Given the description of an element on the screen output the (x, y) to click on. 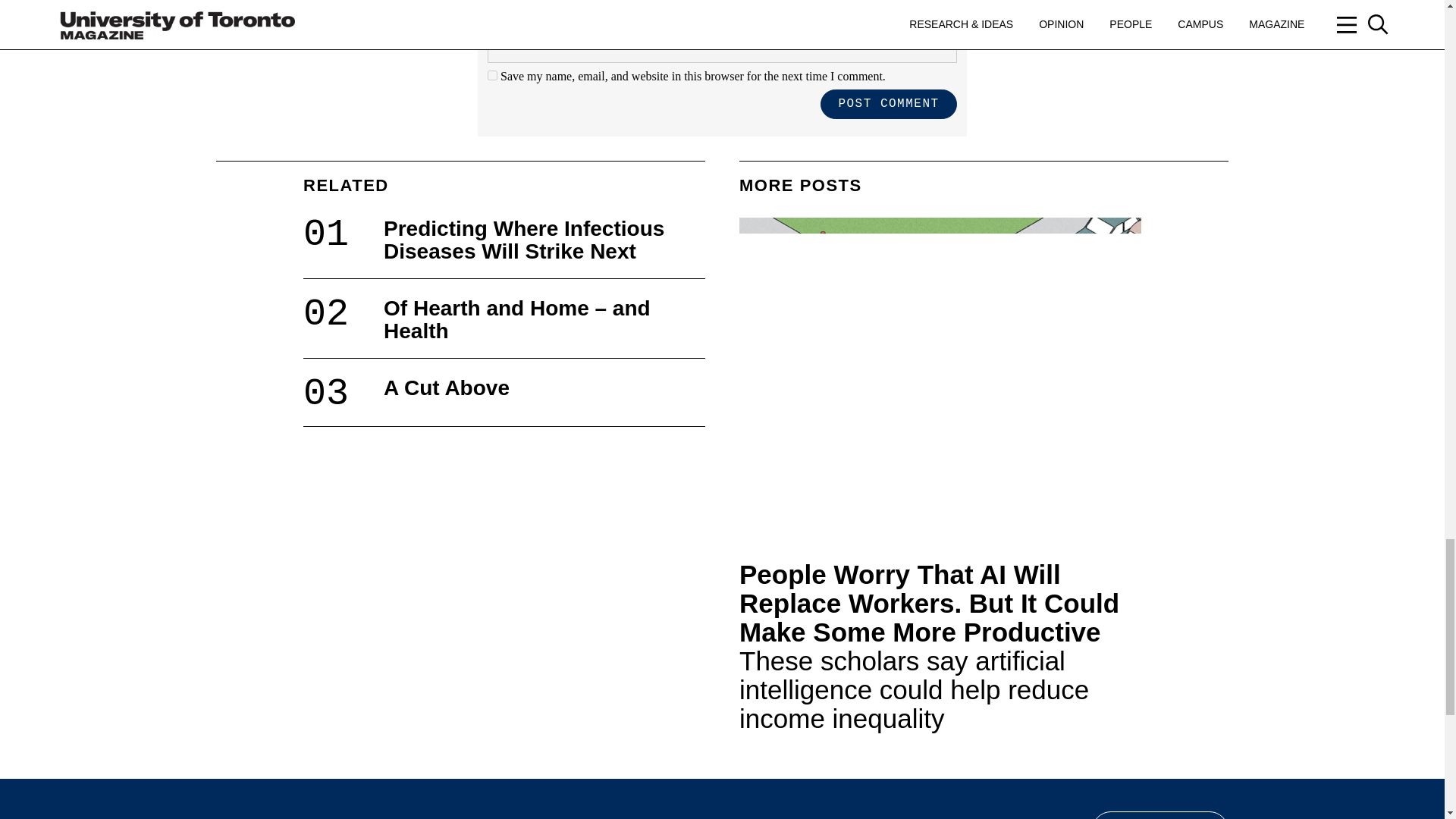
Post Comment (888, 103)
A Cut Above (446, 387)
yes (492, 75)
Post Comment (888, 103)
Predicting Where Infectious Diseases Will Strike Next (523, 239)
